Given the description of an element on the screen output the (x, y) to click on. 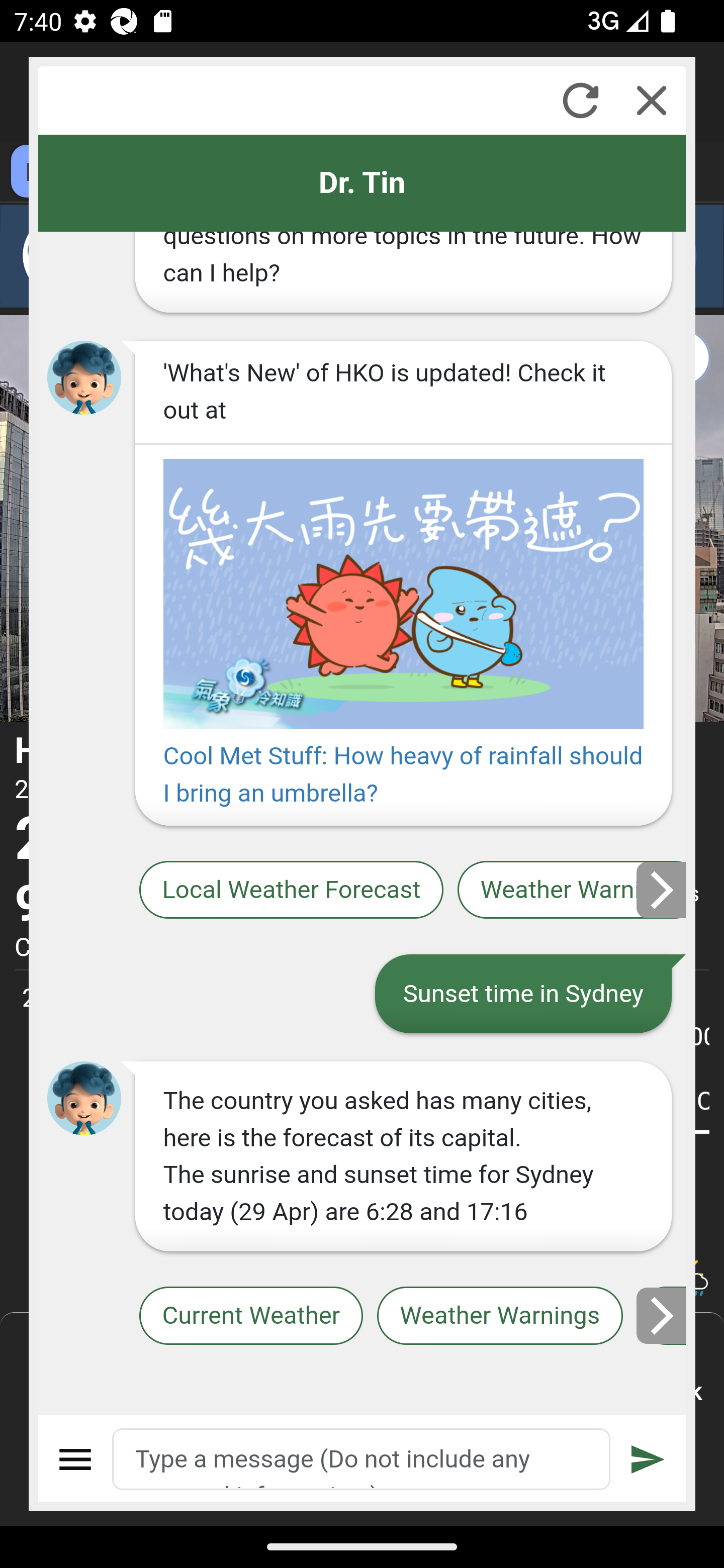
Refresh (580, 100)
Close (651, 100)
Local Weather Forecast (291, 889)
Weather Warnings (571, 889)
Next slide (661, 889)
Current Weather (250, 1315)
Weather Warnings (499, 1315)
Hong Kong Tidal Information (661, 1315)
Menu (75, 1458)
Submit (648, 1458)
